Given the description of an element on the screen output the (x, y) to click on. 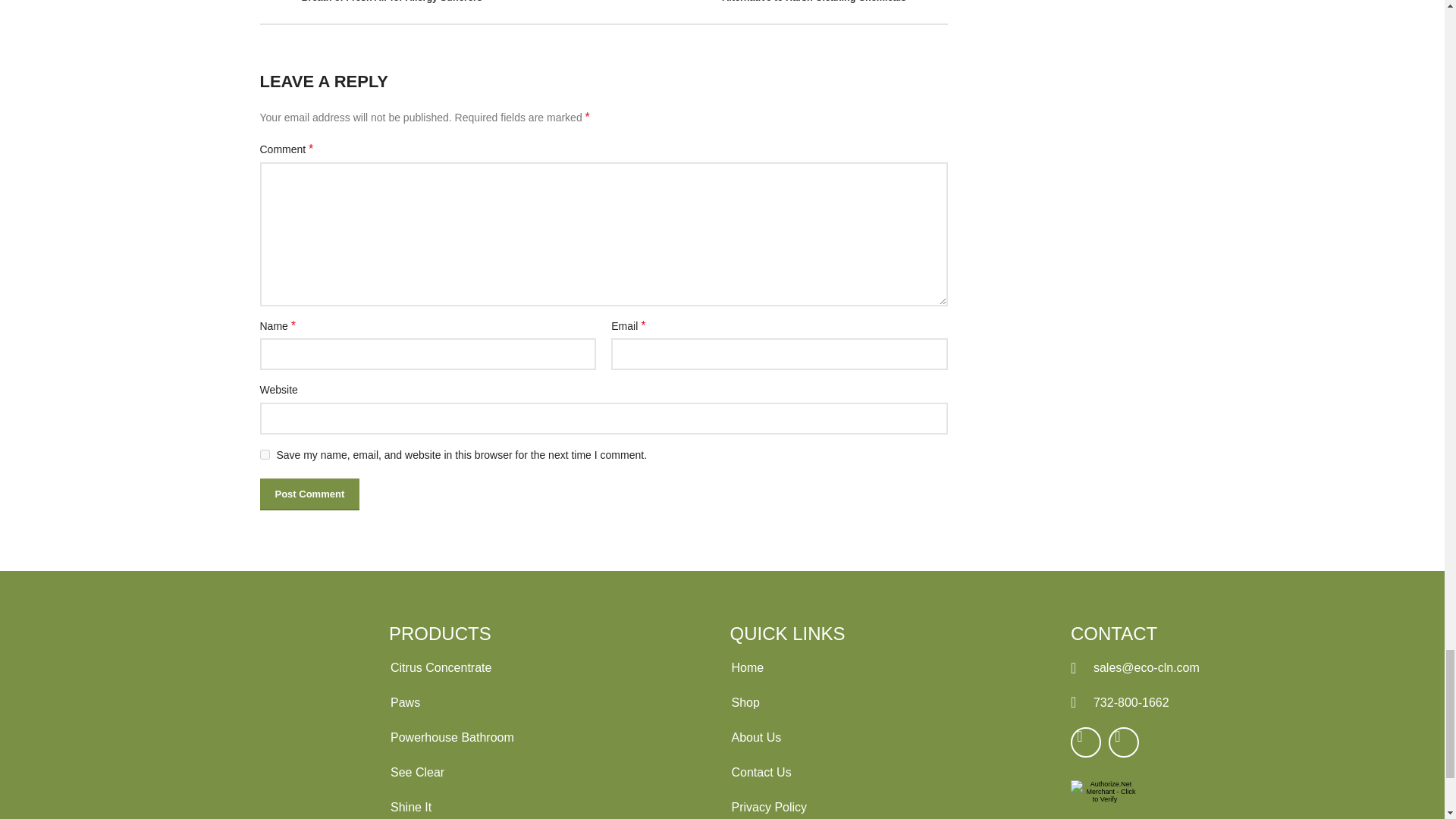
Post Comment (309, 494)
Post Comment (309, 494)
yes (264, 454)
